Given the description of an element on the screen output the (x, y) to click on. 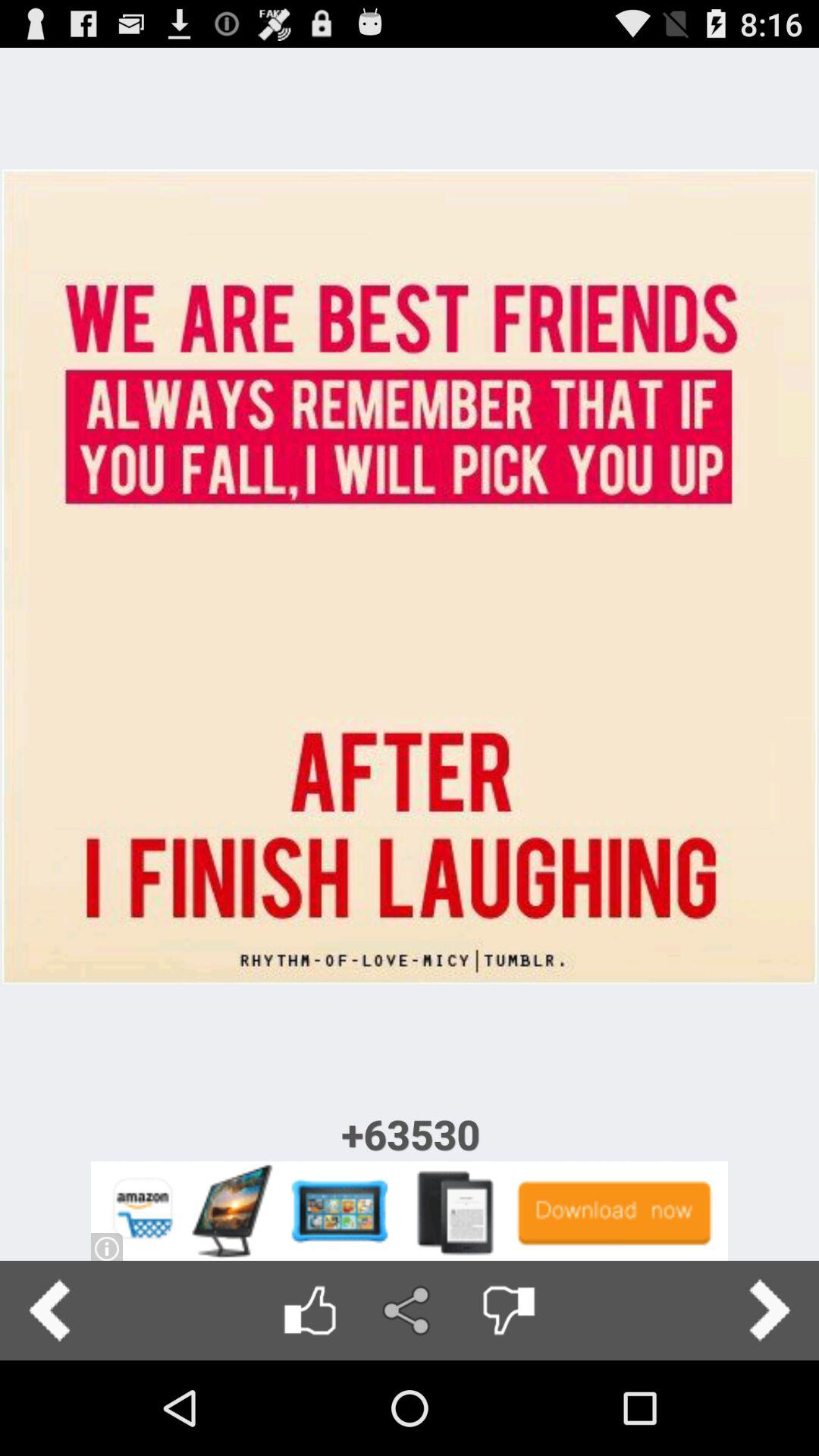
share the article (408, 1310)
